Given the description of an element on the screen output the (x, y) to click on. 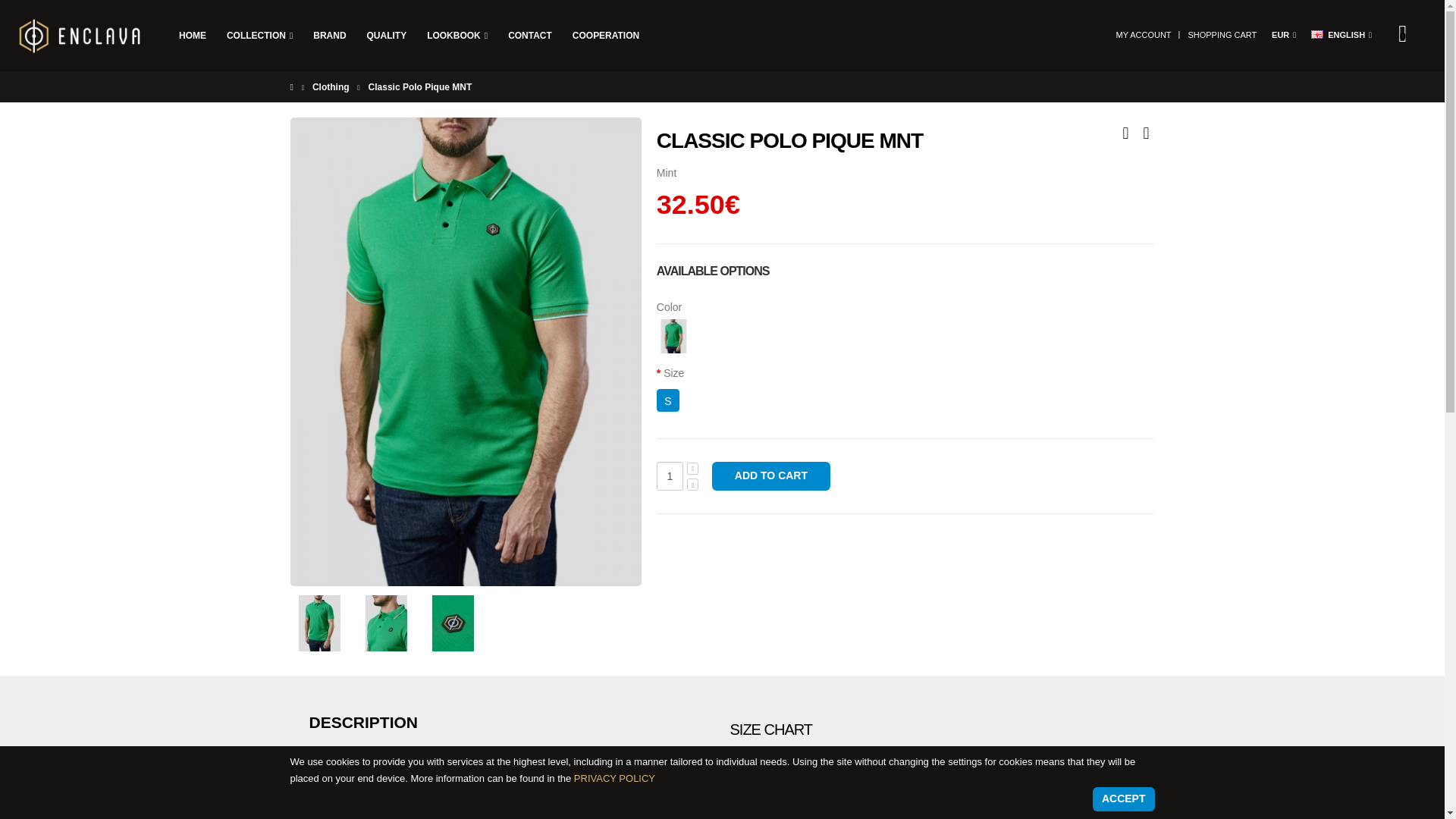
Classic Polo Pique MNT (319, 622)
Enclava (79, 37)
1 (669, 475)
Add to Cart (770, 475)
Classic Polo Pique MNT (452, 622)
PRIVACY POLICY (614, 778)
English (1317, 34)
Classic Polo Pique MNT (385, 622)
